Given the description of an element on the screen output the (x, y) to click on. 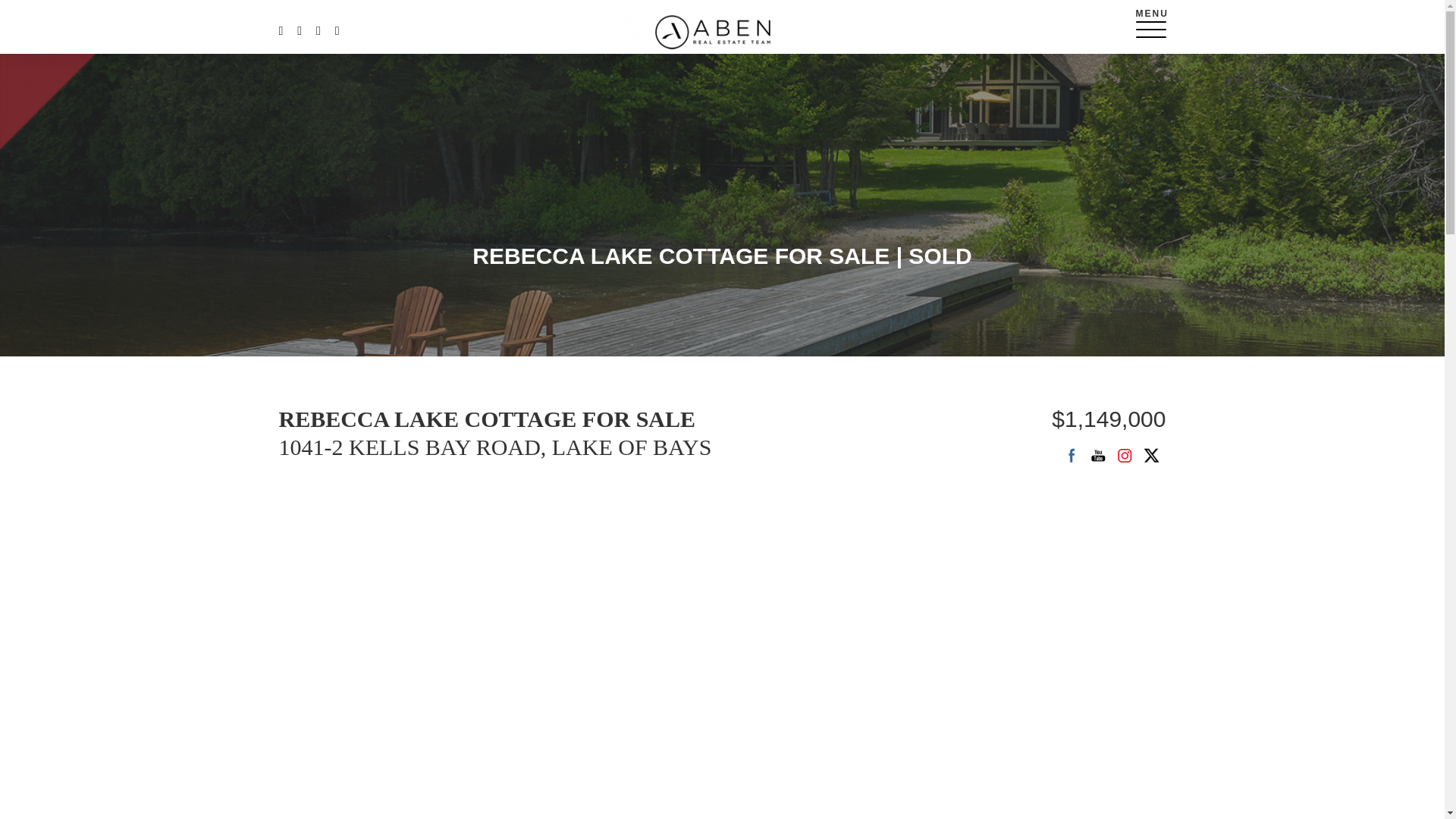
Facebook (1071, 455)
YouTube (1098, 455)
Instagram (1125, 455)
Twitter (1151, 455)
